Given the description of an element on the screen output the (x, y) to click on. 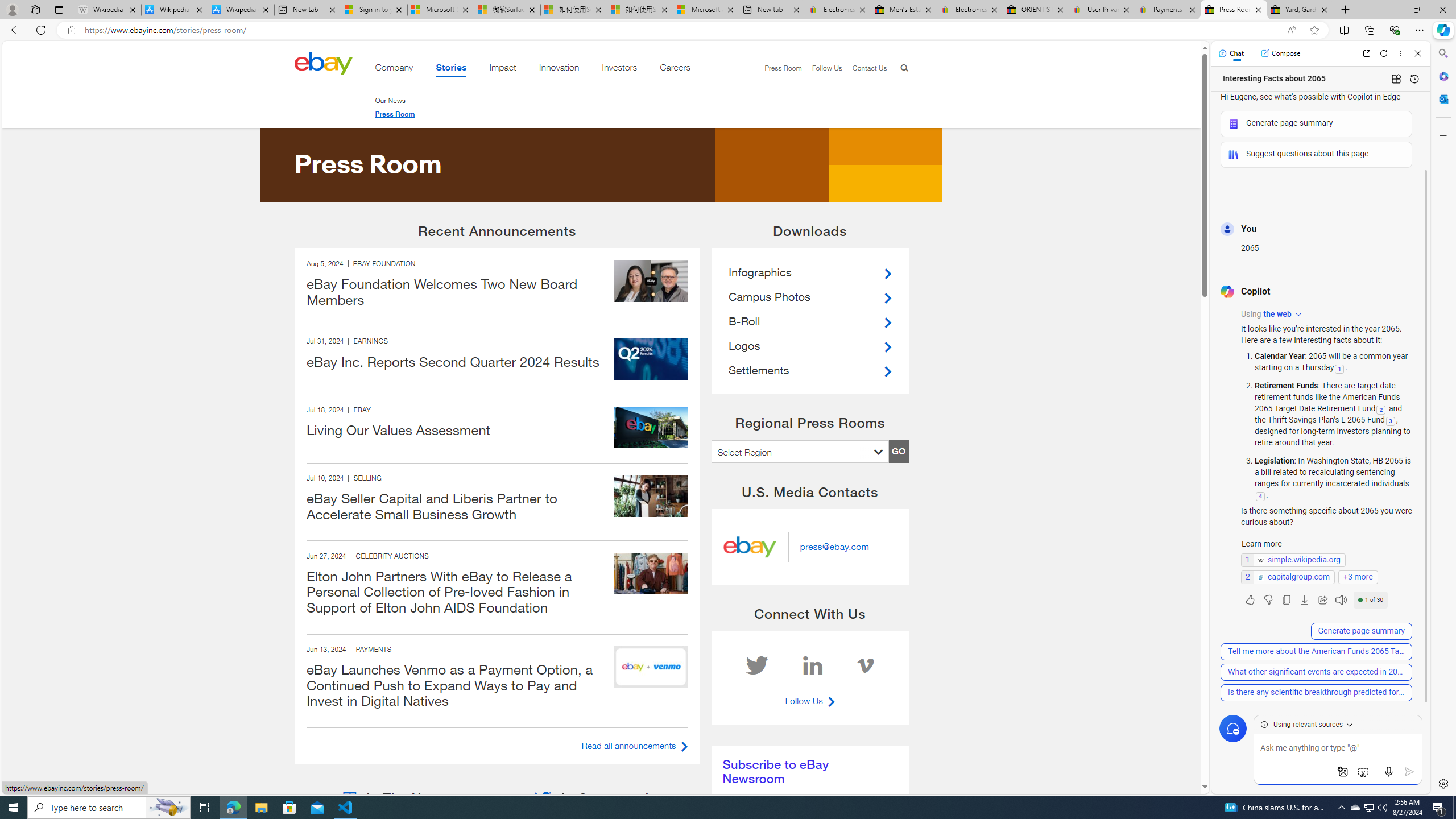
Impact (502, 69)
Send email to press@ebay.com (834, 546)
Innovation (558, 69)
Impact (502, 69)
